Given the description of an element on the screen output the (x, y) to click on. 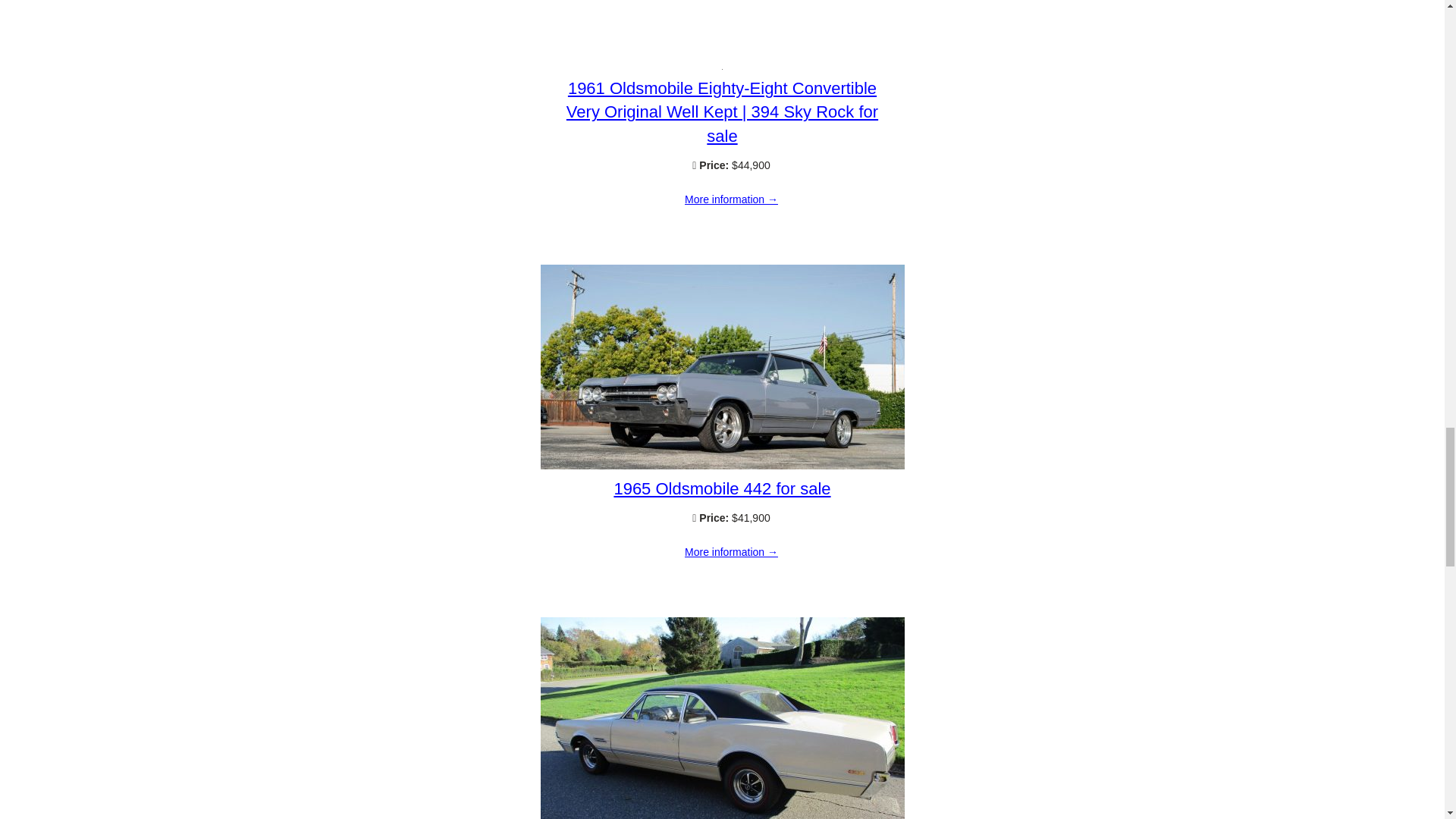
1965 Oldsmobile 442 for sale (731, 552)
1960 Oldsmobile Eighty-Eight for sale (731, 4)
1965 Oldsmobile 442 for sale (720, 488)
1965 Oldsmobile 442 for sale (722, 465)
